Given the description of an element on the screen output the (x, y) to click on. 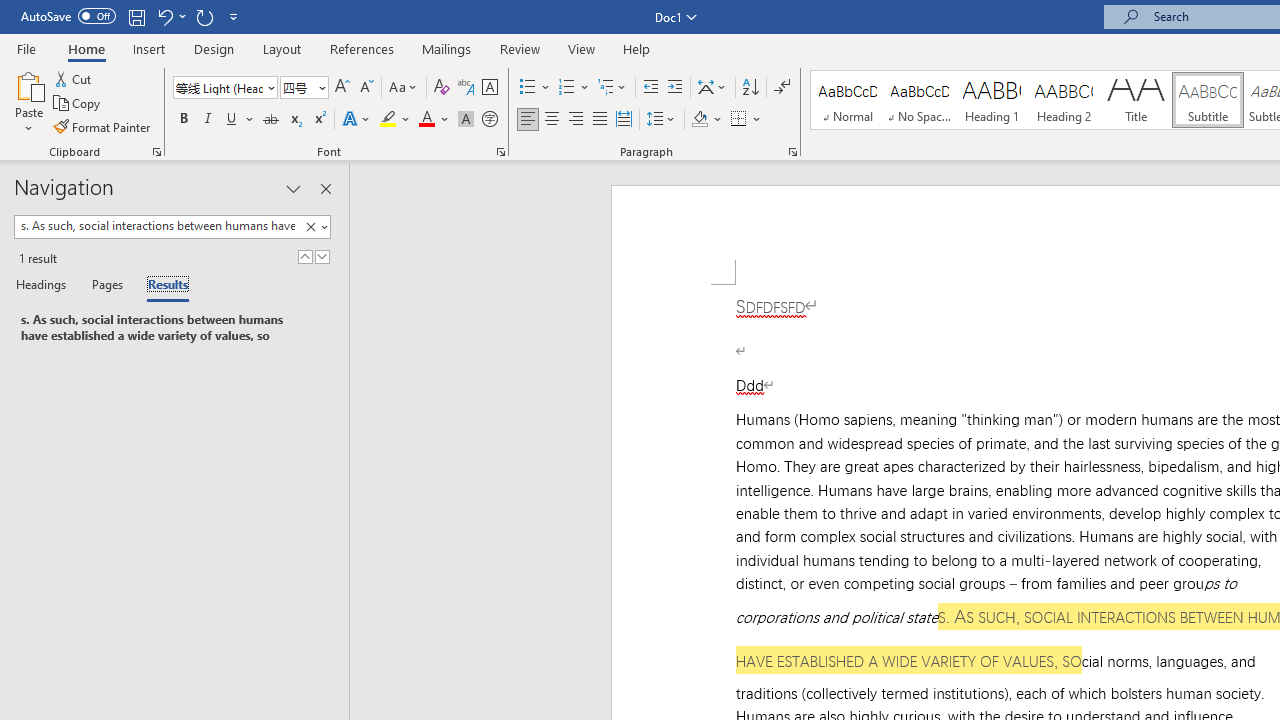
Undo Style (164, 15)
Heading 2 (1063, 100)
